Given the description of an element on the screen output the (x, y) to click on. 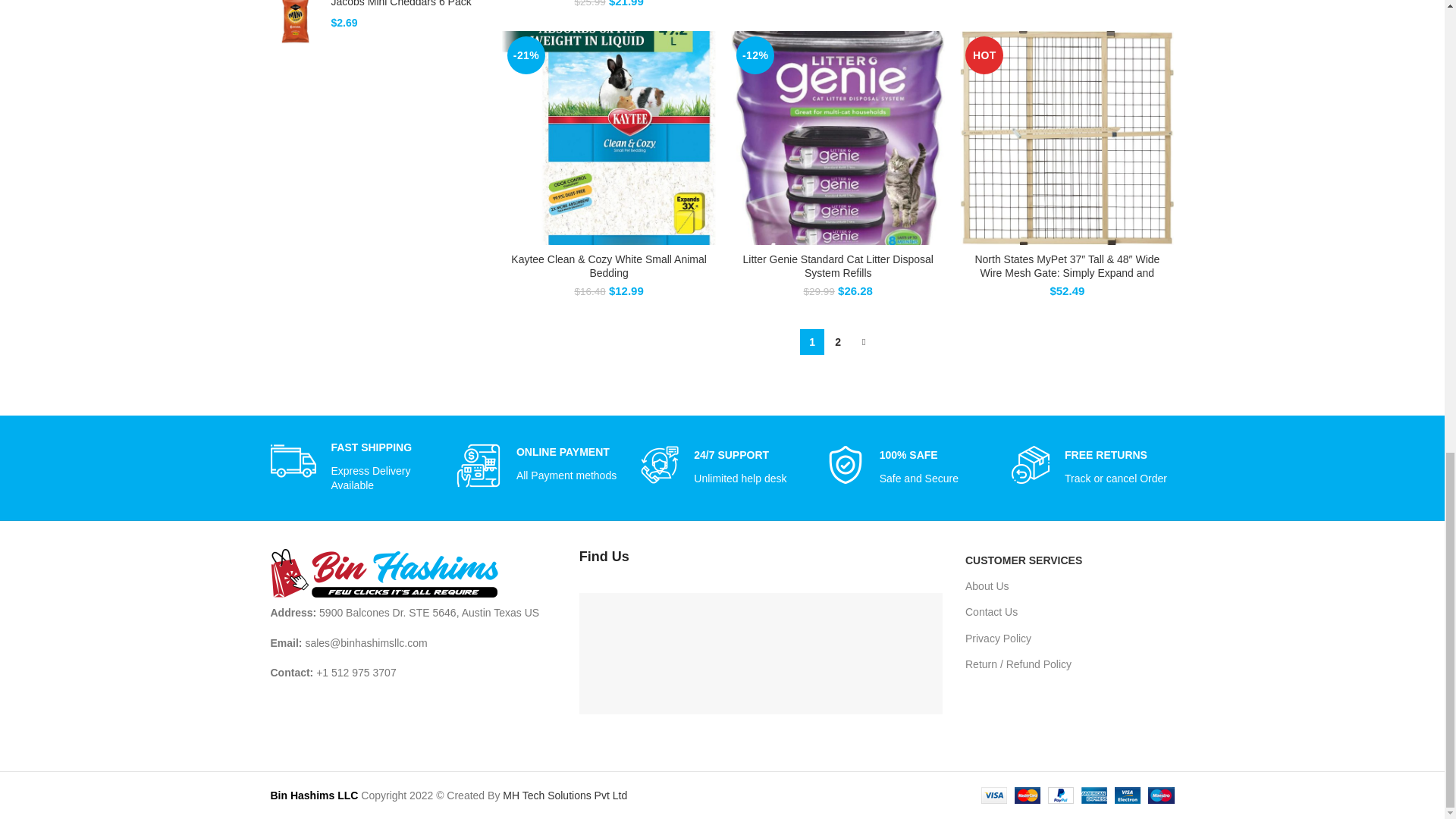
Jacobs Mini Cheddars 6 Pack (293, 22)
Jacobs Mini Cheddars 6 Pack (404, 4)
Shipping (292, 461)
